Given the description of an element on the screen output the (x, y) to click on. 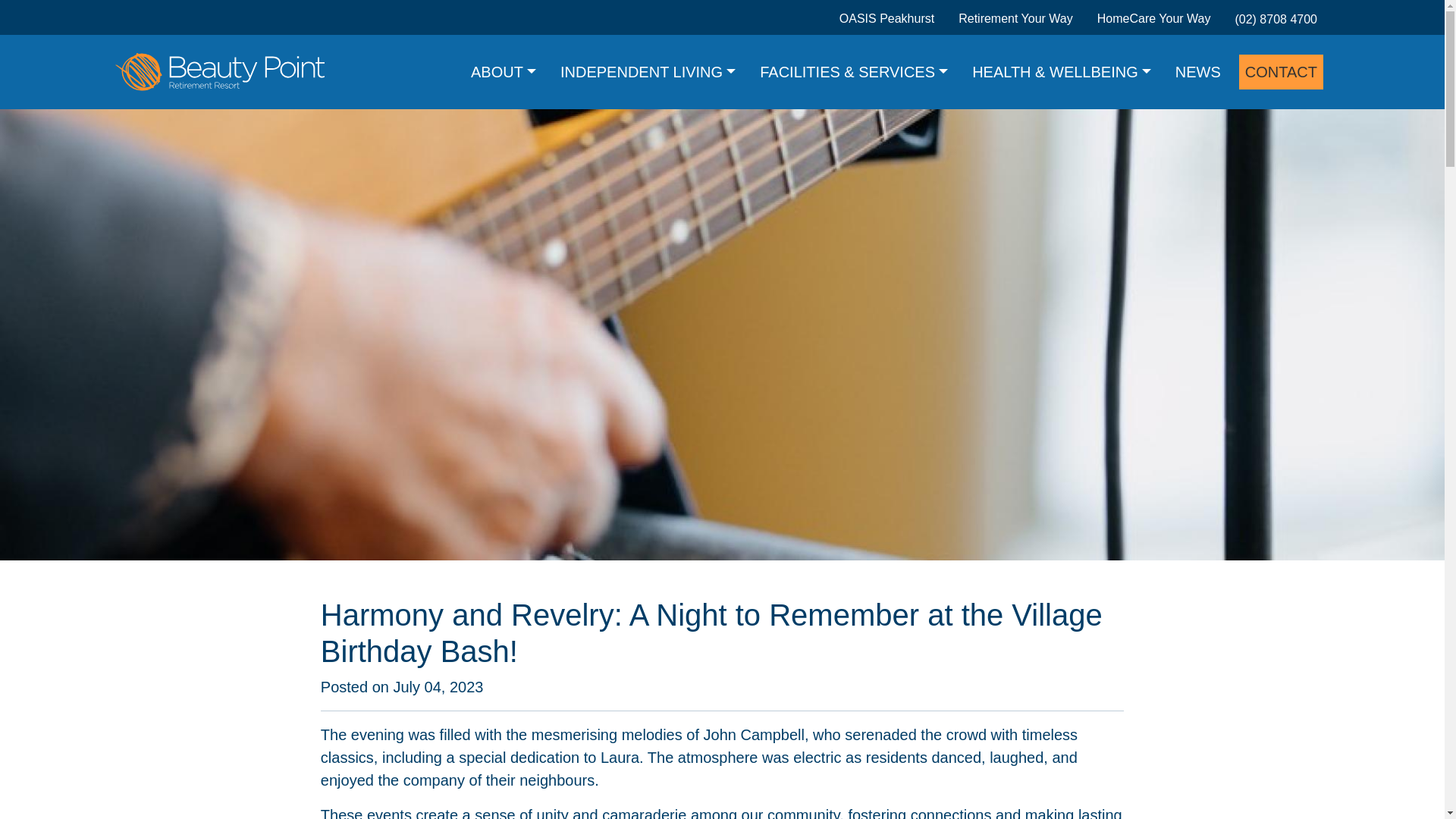
NEWS (1198, 71)
Retirement Your Way (1015, 18)
CONTACT (1281, 71)
ABOUT (502, 71)
INDEPENDENT LIVING (647, 71)
HomeCare Your Way (1154, 18)
OASIS Peakhurst (887, 18)
